Given the description of an element on the screen output the (x, y) to click on. 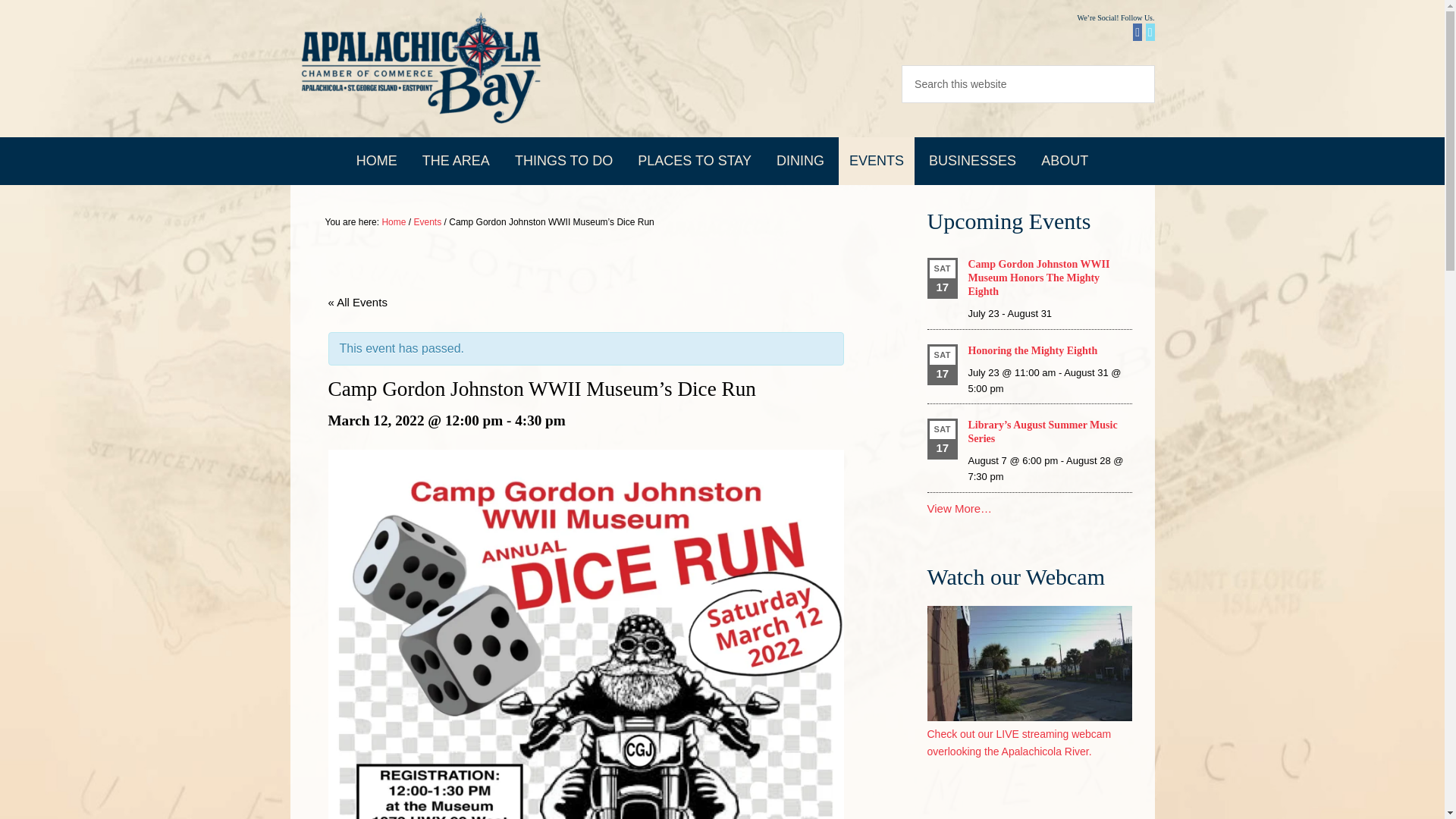
APALACHICOLA BAY CHAMBER OF COMMERCE (420, 68)
